Given the description of an element on the screen output the (x, y) to click on. 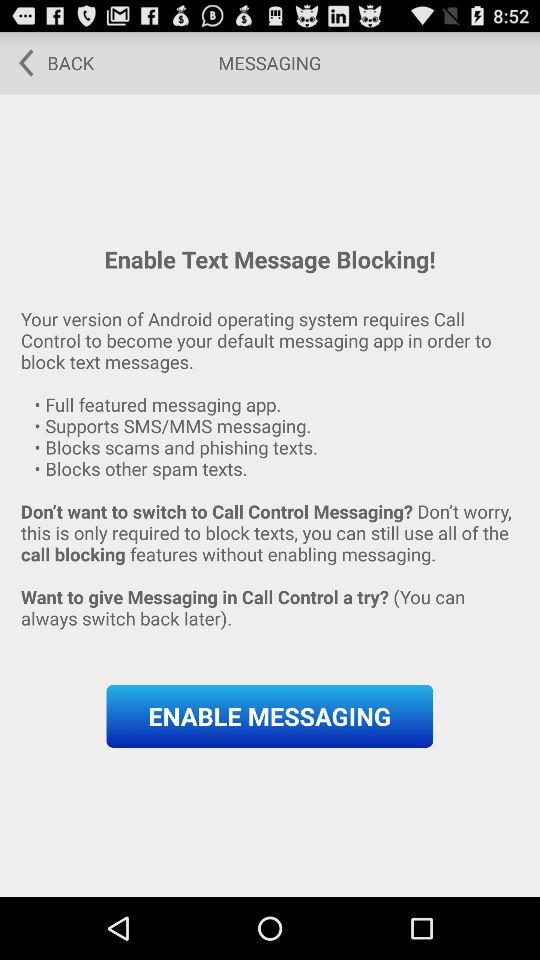
select the icon to the left of messaging icon (49, 62)
